Given the description of an element on the screen output the (x, y) to click on. 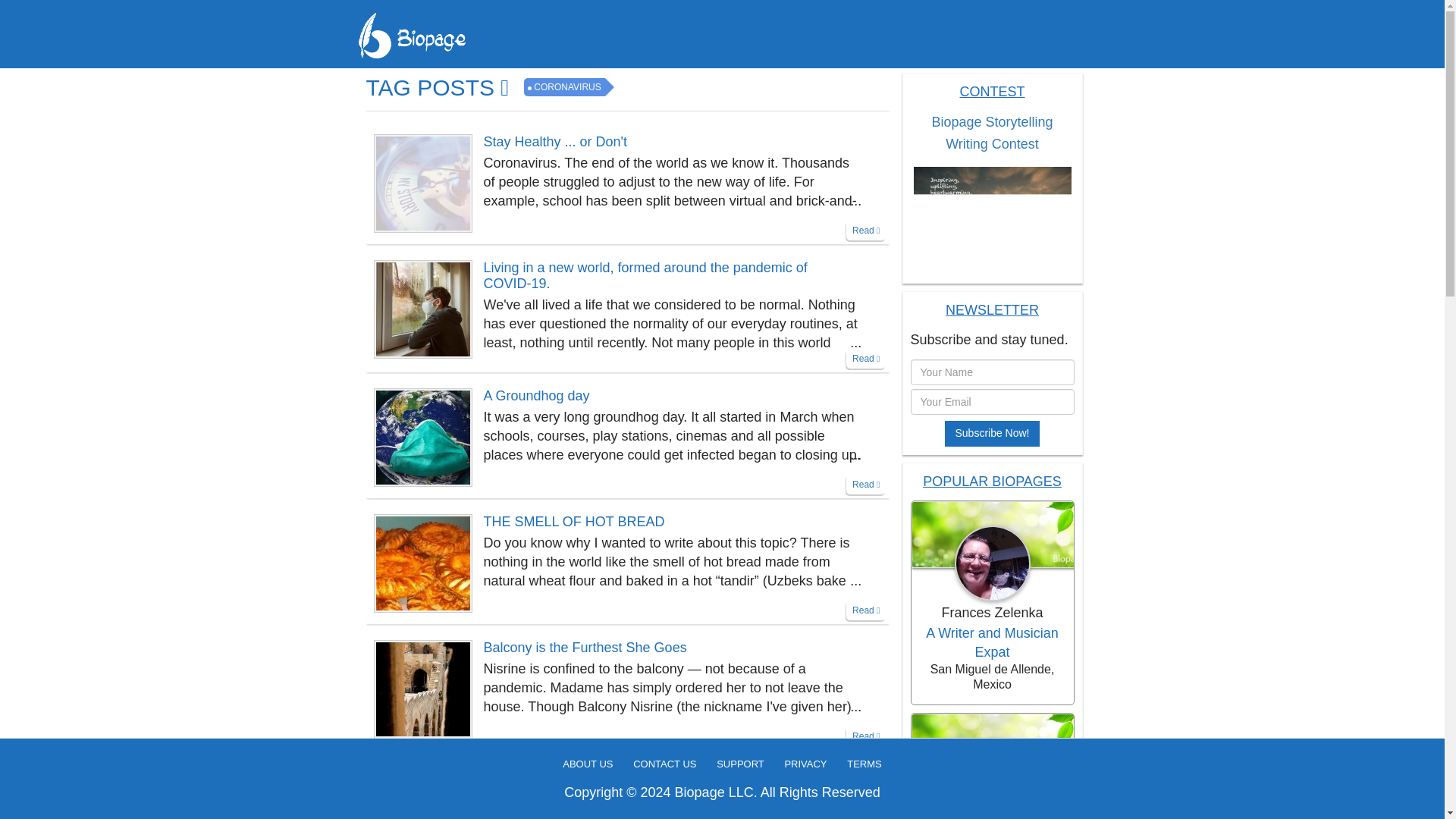
Visit post (666, 521)
Read (865, 230)
Visit post (666, 396)
Visit Post (422, 687)
Subscribe Now! (991, 433)
Visit Post (422, 307)
Visit post (666, 773)
Visit post (666, 141)
Balcony is the Furthest She Goes (666, 647)
Visit Post (422, 561)
